Given the description of an element on the screen output the (x, y) to click on. 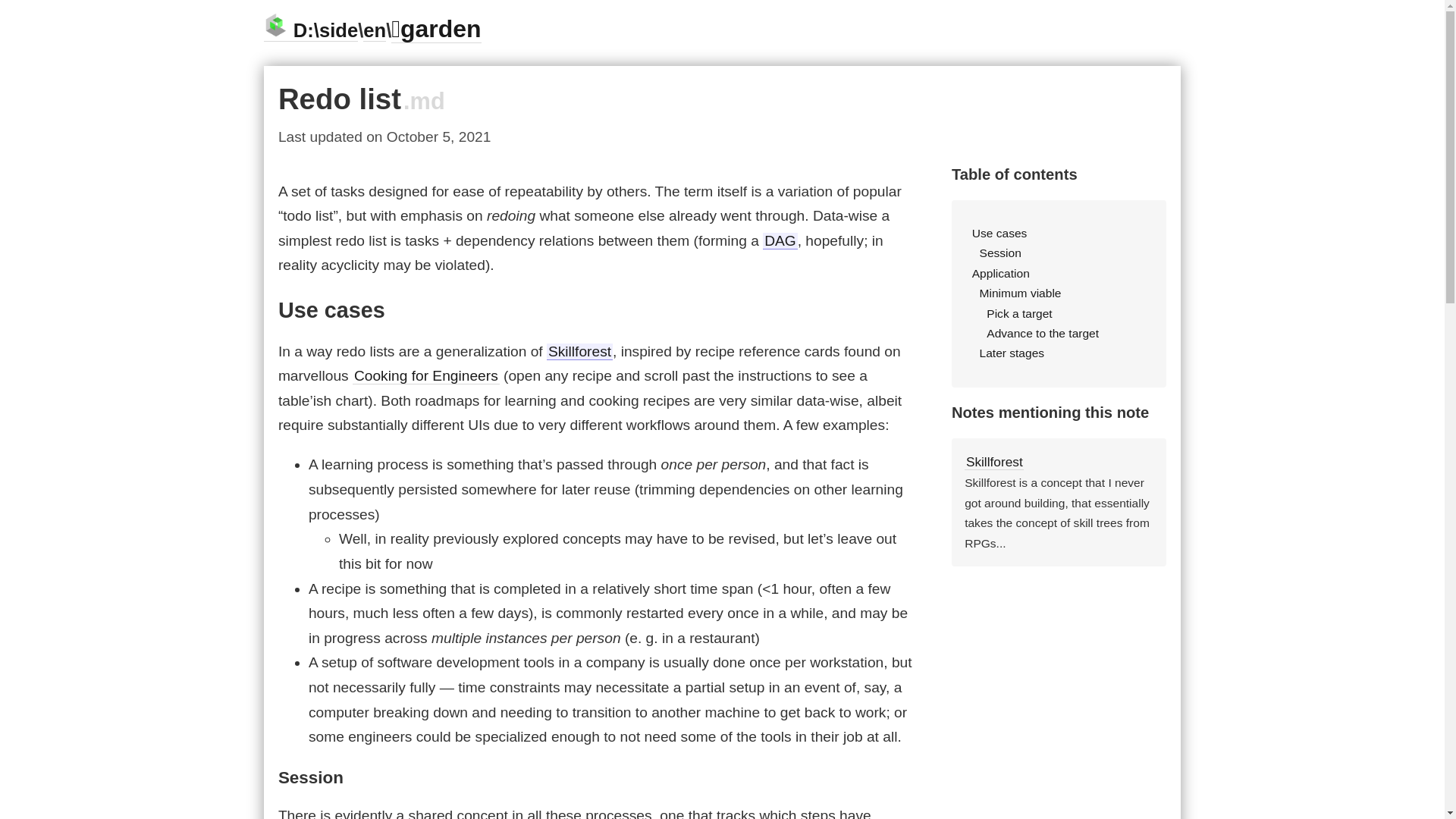
.md (423, 100)
en (373, 30)
Skillforest (579, 351)
DAG (779, 240)
Cooking for Engineers (425, 375)
